Given the description of an element on the screen output the (x, y) to click on. 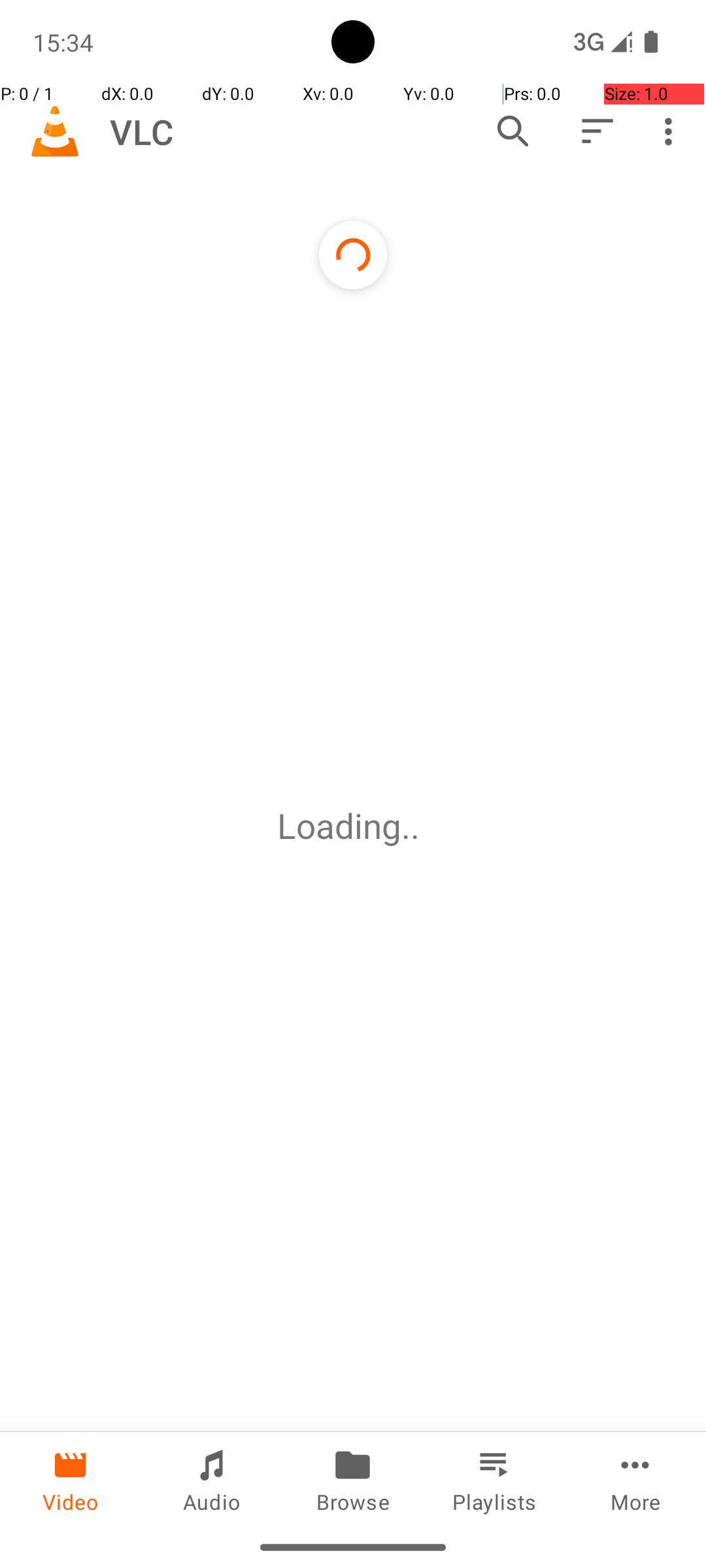
.. Element type: android.widget.TextView (414, 825)
